Given the description of an element on the screen output the (x, y) to click on. 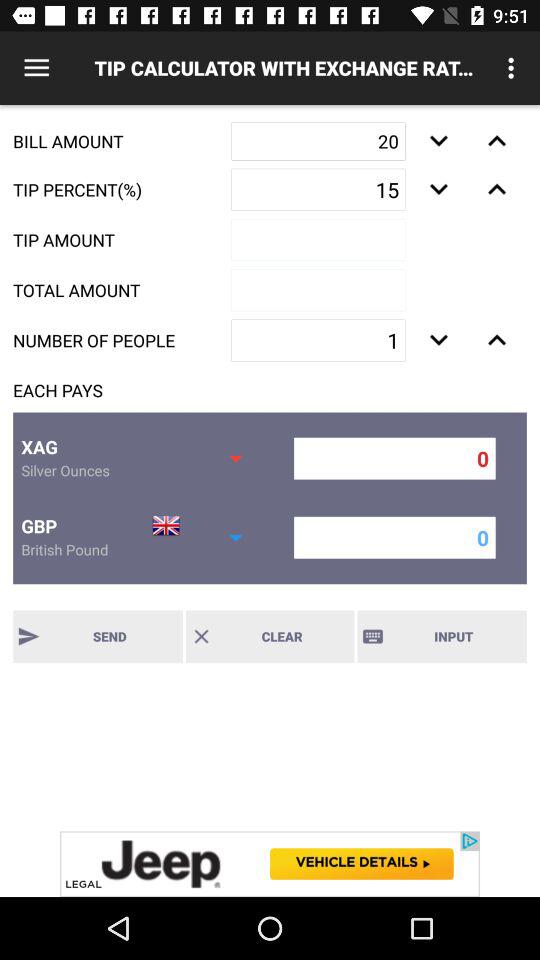
reduce number by one (438, 340)
